Given the description of an element on the screen output the (x, y) to click on. 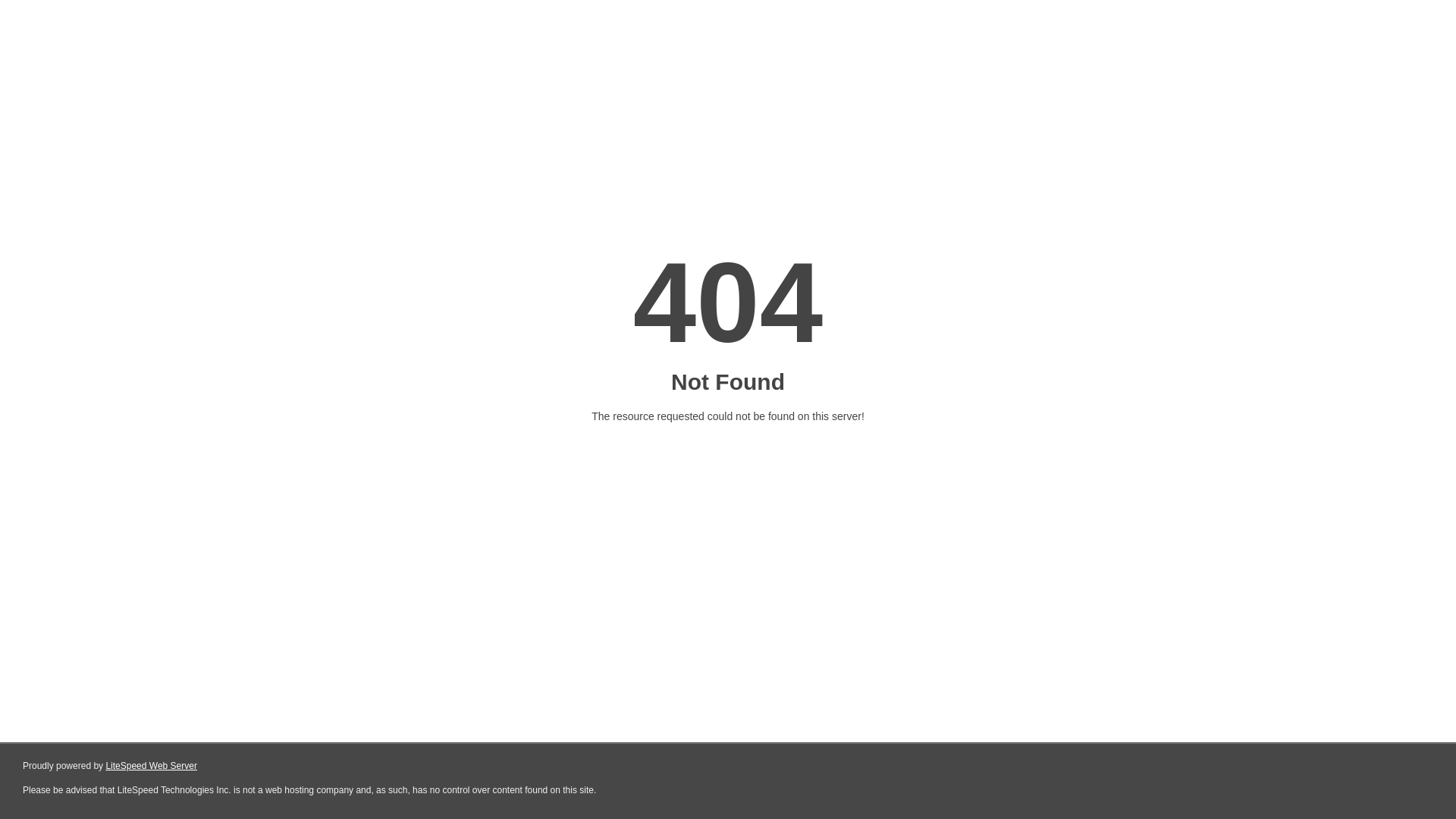
LiteSpeed Web Server Element type: text (151, 765)
